Given the description of an element on the screen output the (x, y) to click on. 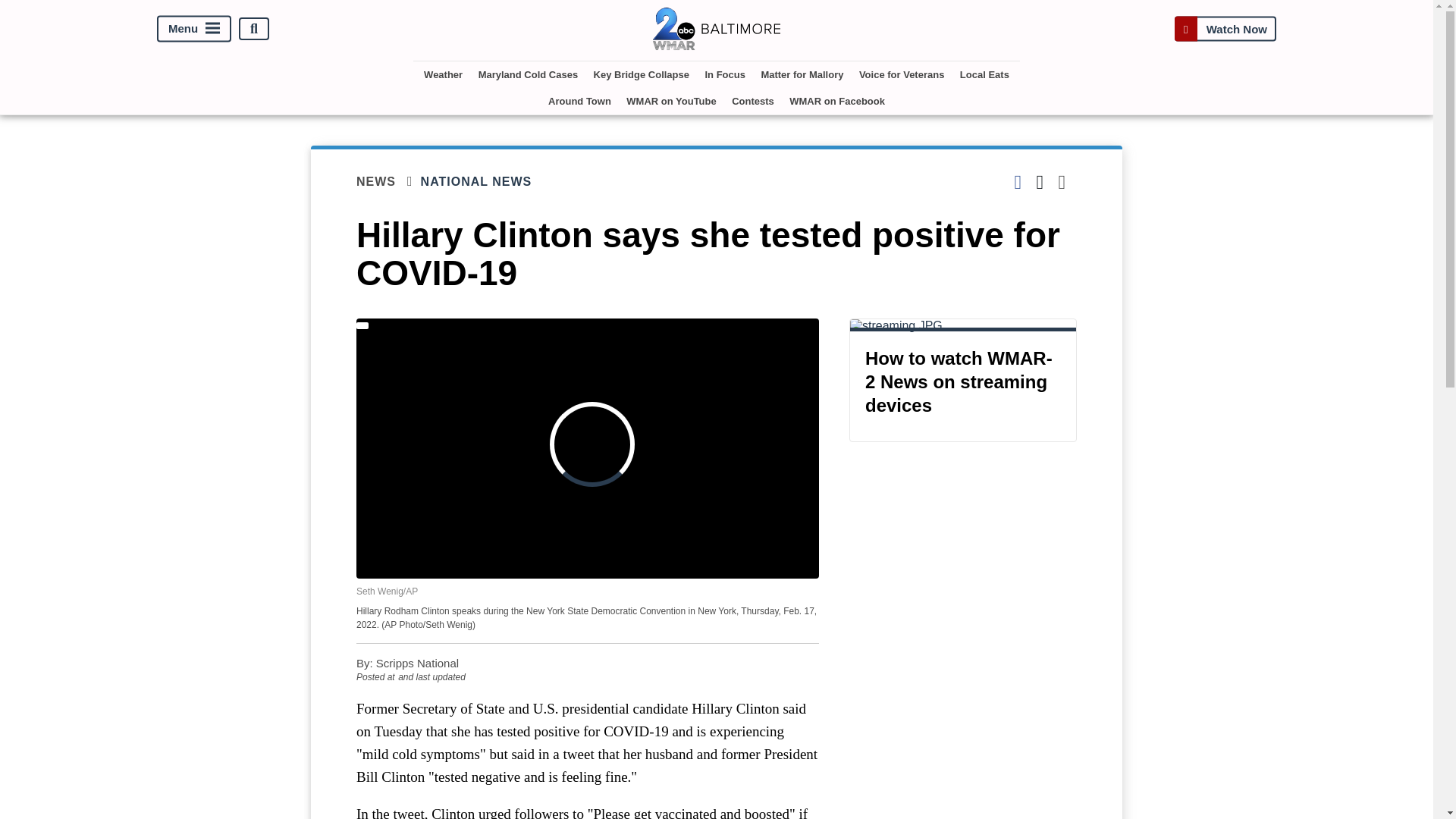
Watch Now (1224, 29)
Menu (194, 28)
